Given the description of an element on the screen output the (x, y) to click on. 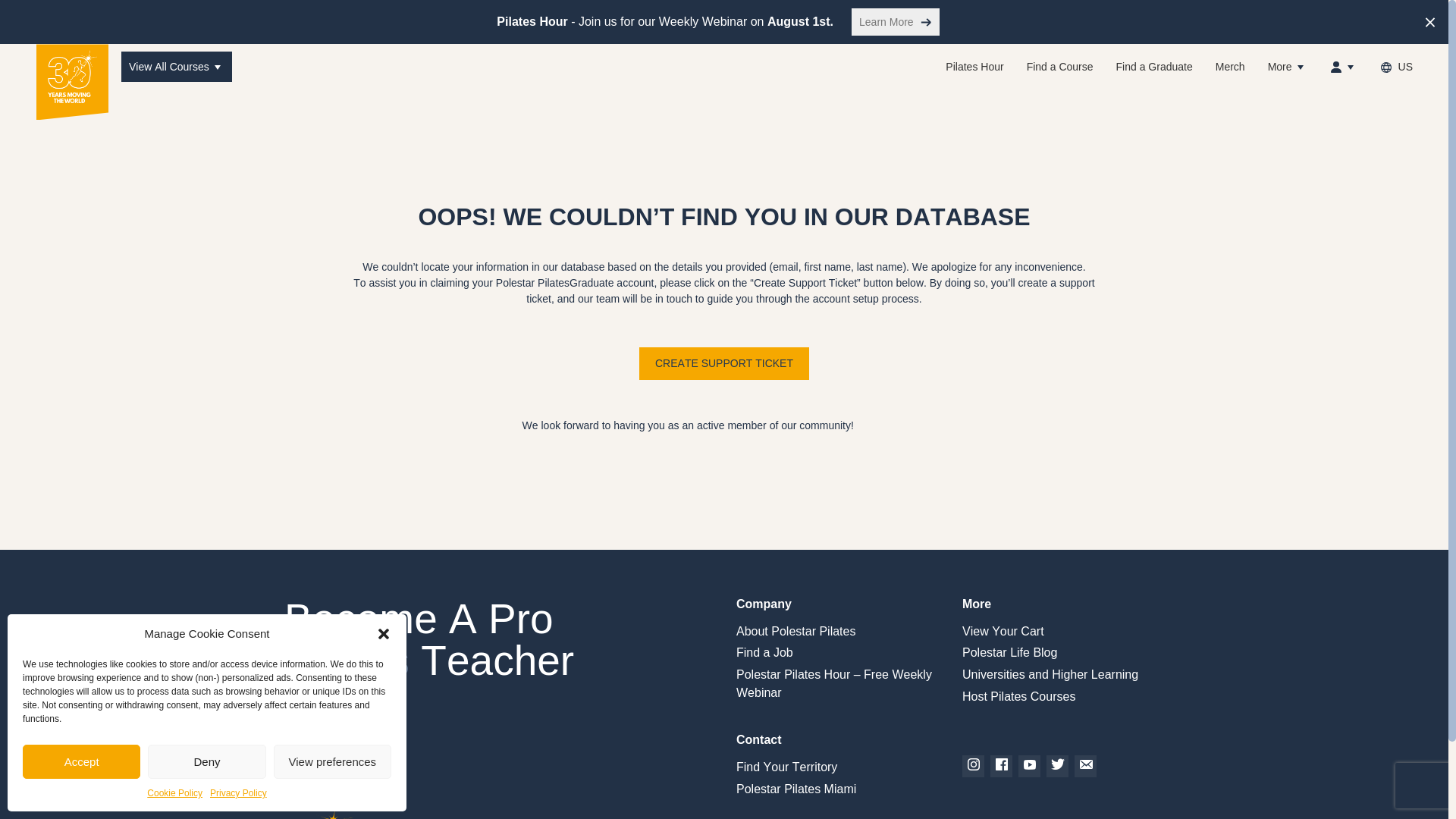
Privacy Policy (237, 793)
View preferences (332, 761)
Cookie Policy (174, 793)
Accept (81, 761)
View All Courses (175, 66)
Learn More (895, 22)
Deny (206, 761)
